Given the description of an element on the screen output the (x, y) to click on. 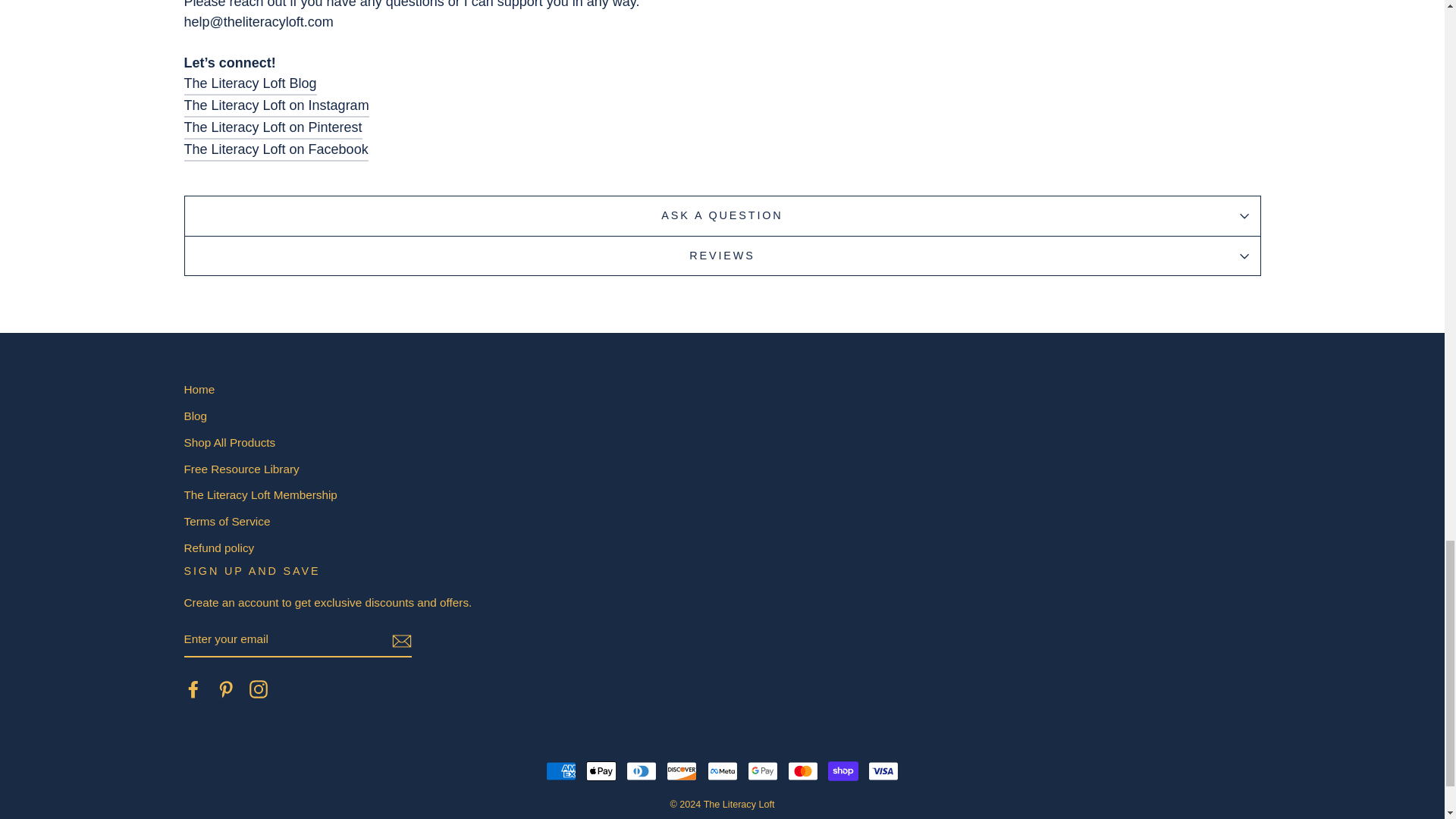
Diners Club (641, 770)
Discover (681, 770)
Google Pay (762, 770)
The Literacy Loft on Facebook (192, 689)
Apple Pay (600, 770)
The Literacy Loft on Instagram (257, 689)
American Express (561, 770)
The Literacy Loft on Pinterest (225, 689)
Meta Pay (721, 770)
